Given the description of an element on the screen output the (x, y) to click on. 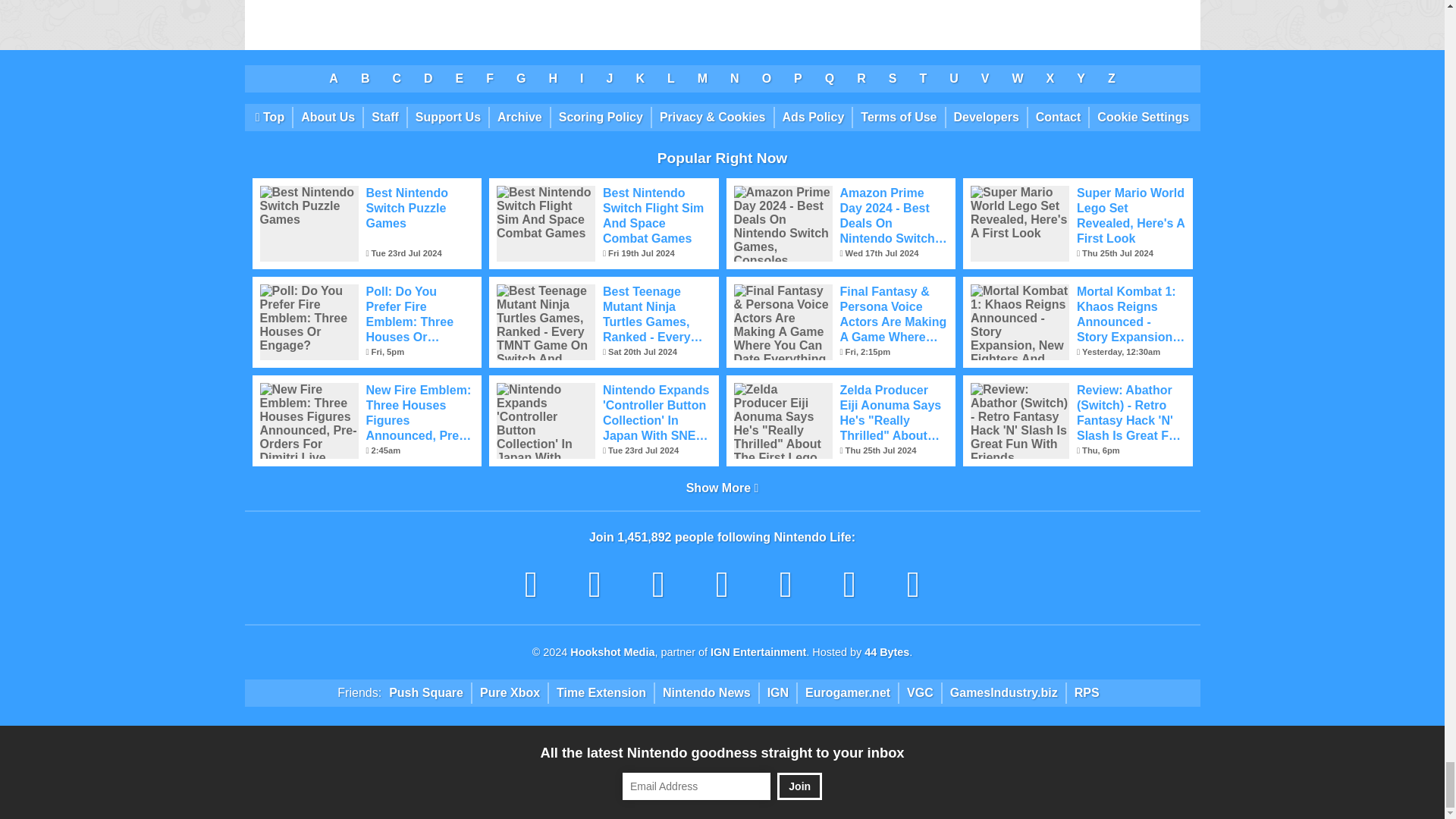
Join (799, 786)
